Given the description of an element on the screen output the (x, y) to click on. 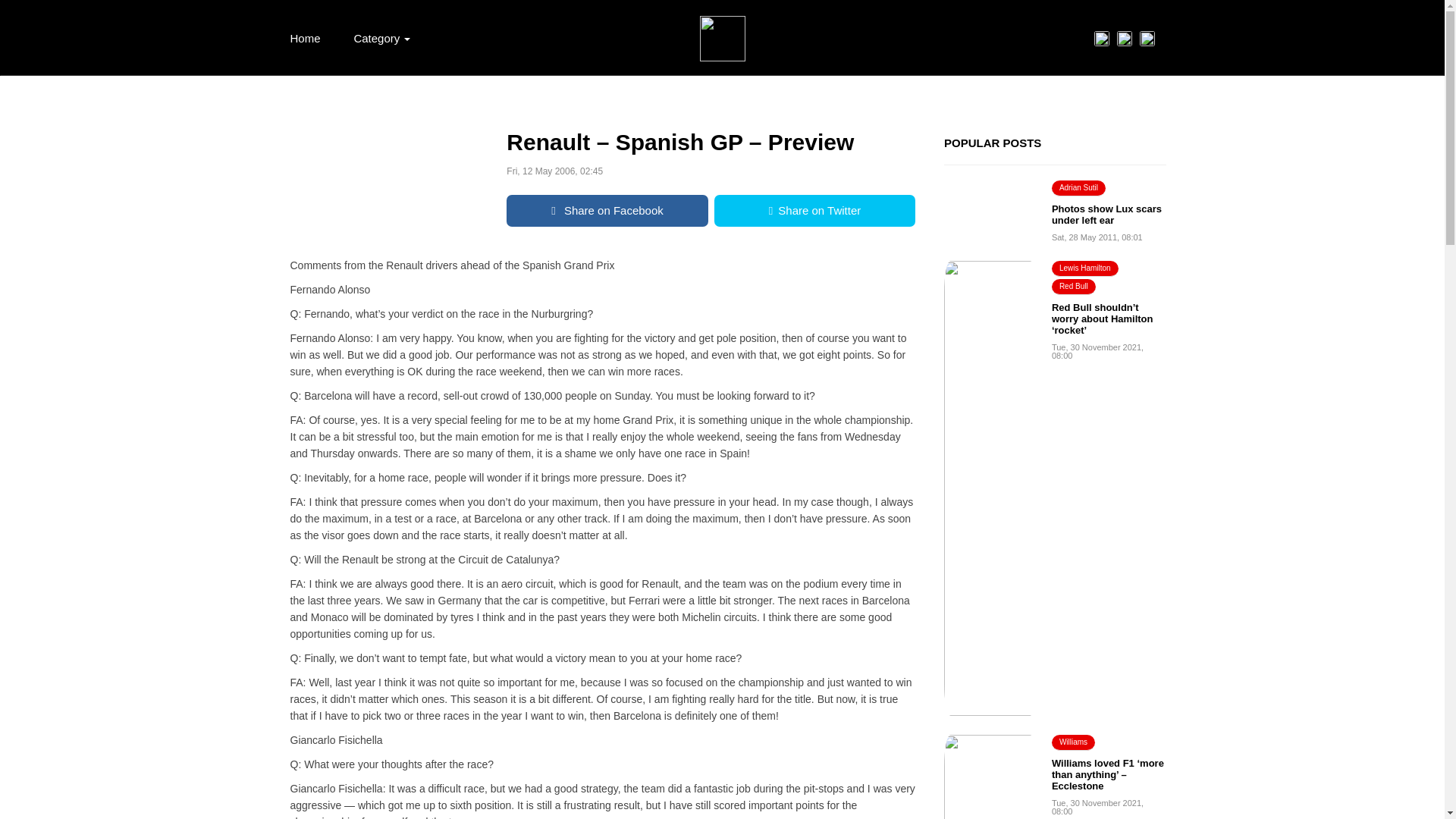
Share on Facebook (606, 210)
Williams (1072, 742)
Category (381, 38)
Red Bull (1073, 286)
Category (381, 38)
Adrian Sutil (1078, 188)
Share on Twitter (814, 210)
Share on Twitter (814, 210)
Lewis Hamilton (1084, 268)
Share on Facebook (606, 210)
